Given the description of an element on the screen output the (x, y) to click on. 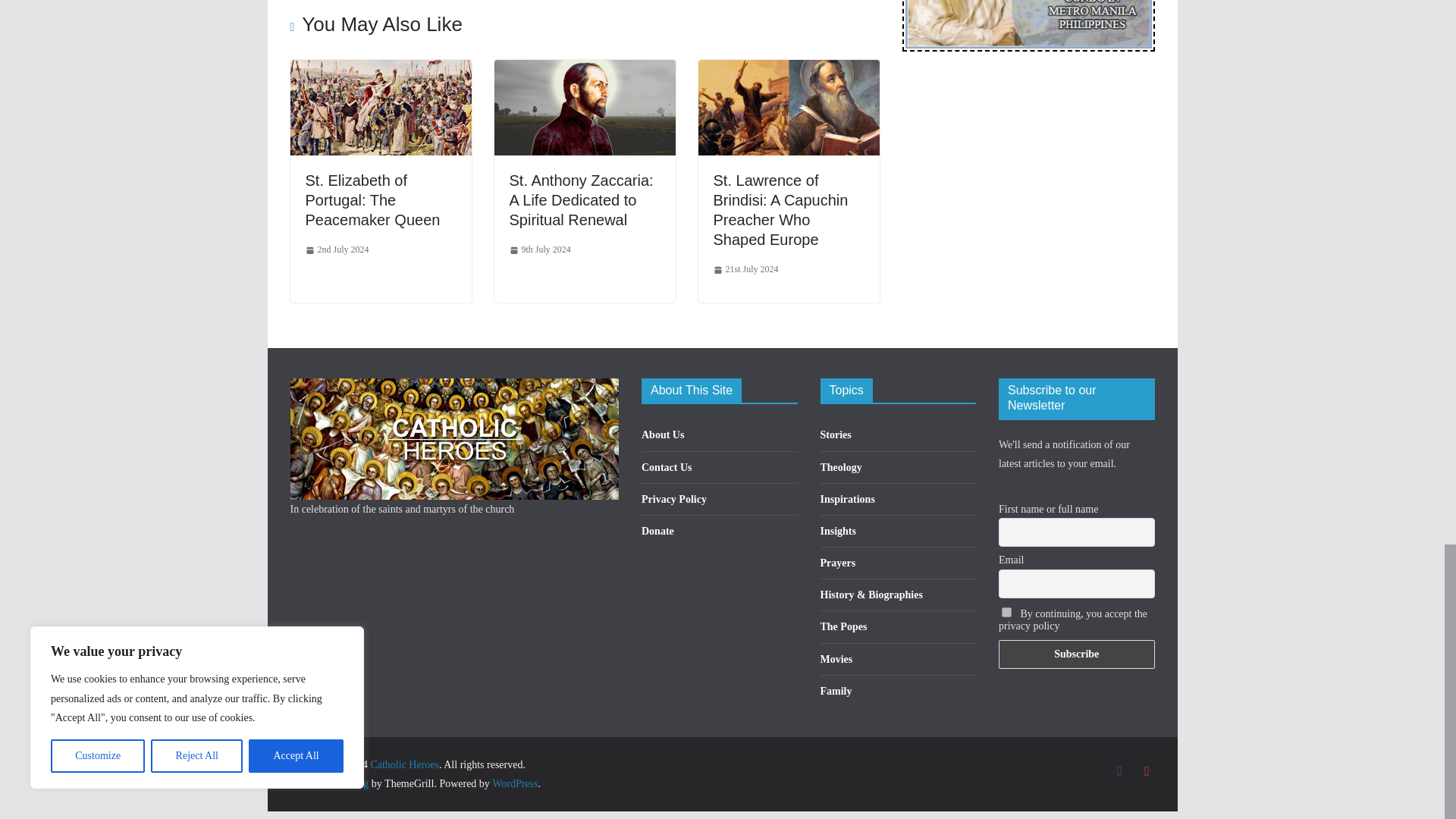
St. Elizabeth of Portugal: The Peacemaker Queen (371, 199)
Subscribe (1076, 654)
on (1006, 612)
St. Anthony Zaccaria: A Life Dedicated to Spiritual Renewal (585, 69)
St. Elizabeth of Portugal: The Peacemaker Queen (379, 69)
St. Anthony Zaccaria: A Life Dedicated to Spiritual Renewal (581, 199)
11:28 am (336, 249)
